Given the description of an element on the screen output the (x, y) to click on. 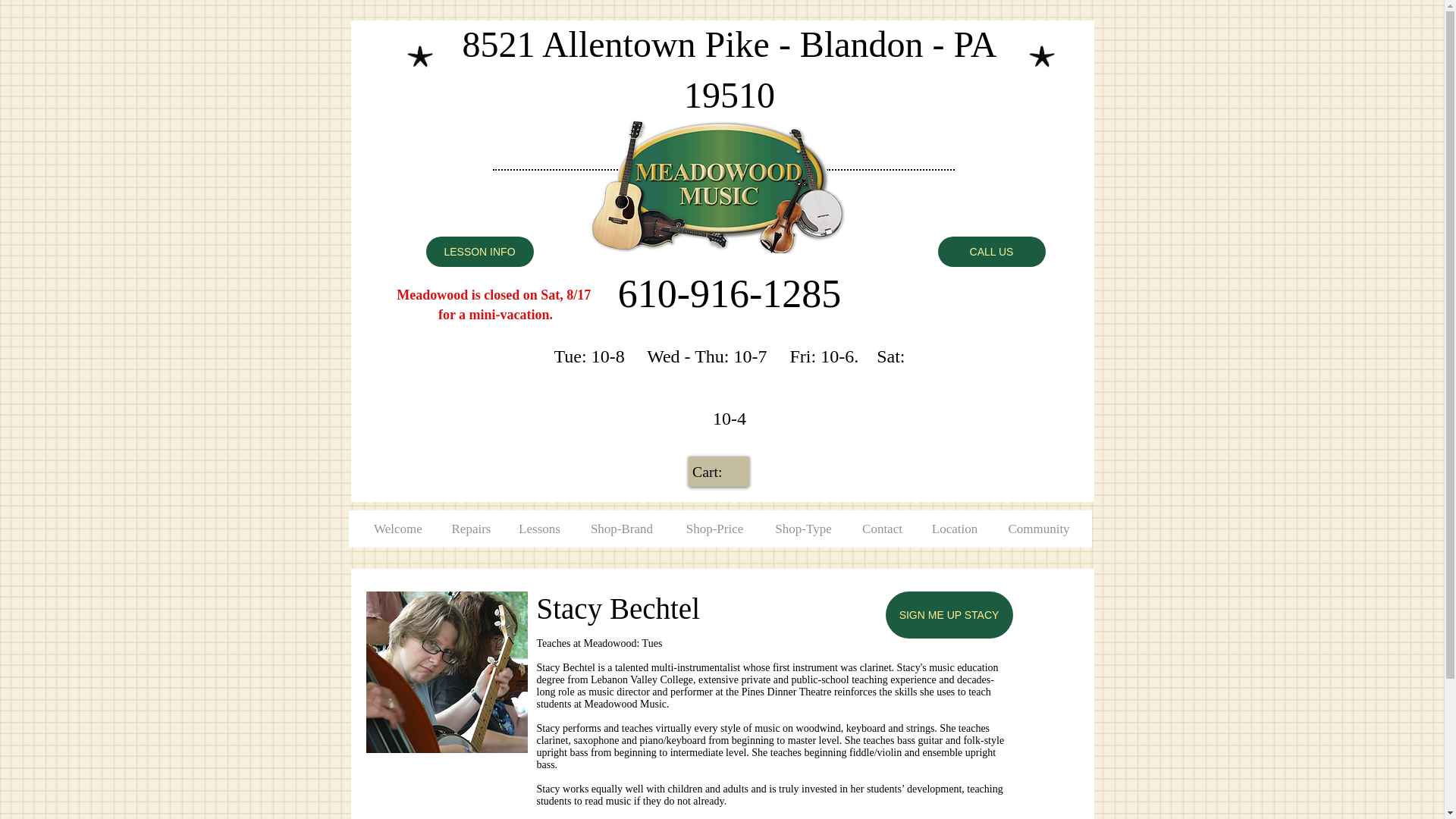
Lessons (539, 528)
Contact (882, 528)
Community (1037, 528)
8521 Allentown Pike -  (631, 44)
Location (954, 528)
Cart: (718, 471)
Shop-Brand (621, 528)
Shop-Price (714, 528)
Welcome (398, 528)
CALL US (991, 251)
